Given the description of an element on the screen output the (x, y) to click on. 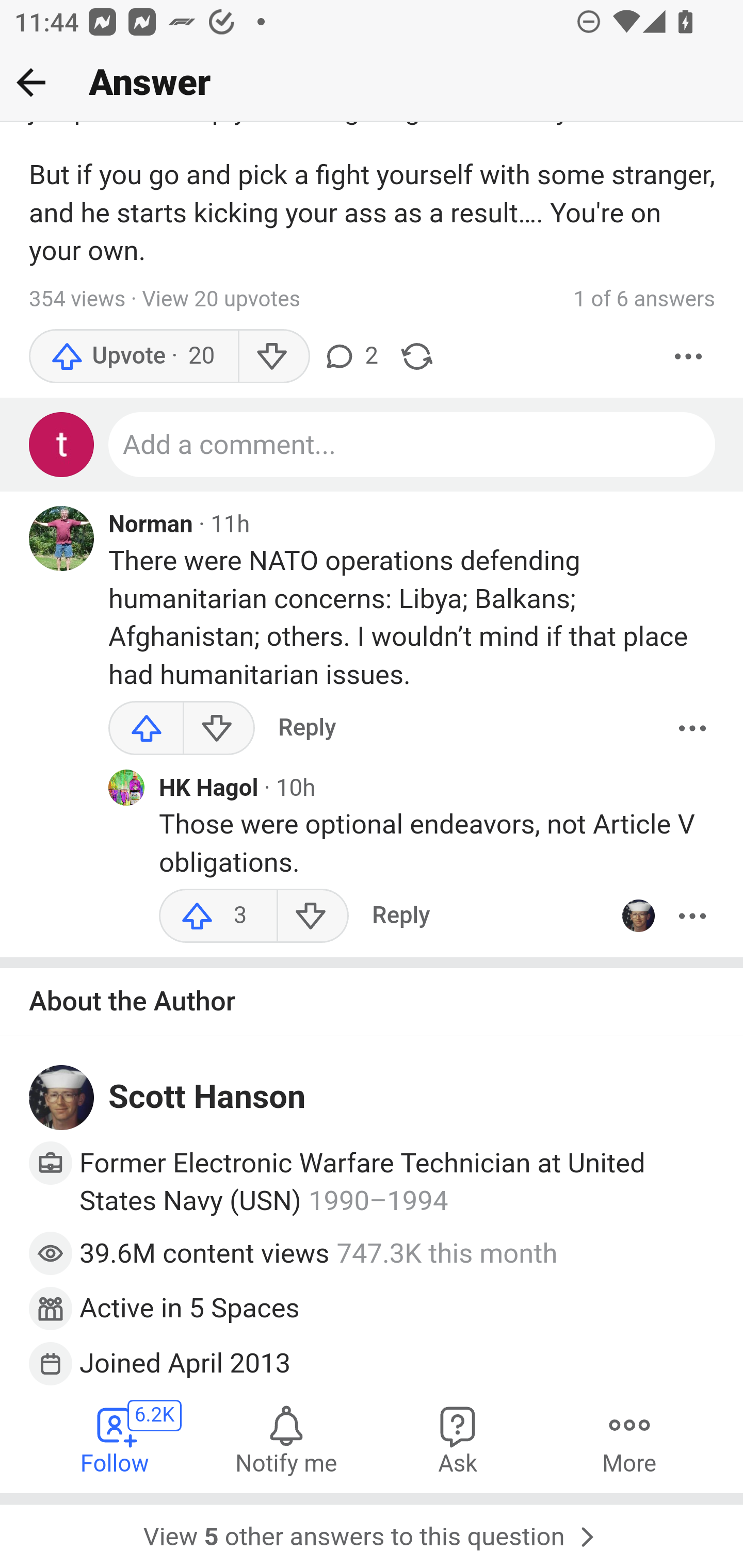
Back Answer (371, 82)
Back (30, 82)
View 20 upvotes (221, 299)
1 of 6 answers (644, 299)
Upvote (133, 356)
Downvote (273, 356)
2 comments (349, 356)
Share (416, 356)
More (688, 356)
Profile photo for Test Appium (61, 444)
Add a comment... (412, 444)
Profile photo for Norman (61, 538)
Norman (150, 525)
11h 11 h (230, 523)
Upvote (146, 728)
Downvote (218, 728)
Reply (306, 728)
More (691, 728)
Profile photo for HK Hagol (126, 787)
HK Hagol (209, 788)
10h 10 h (294, 787)
3 upvotes (218, 916)
Downvote (312, 916)
Reply (400, 916)
Profile photo for Scott Hanson (638, 916)
More (691, 916)
Profile photo for Scott Hanson (61, 1097)
Scott Hanson (207, 1096)
Follow Scott Hanson 6.2K Follow (115, 1437)
Notify me (285, 1437)
Ask (458, 1437)
More (628, 1437)
View 5 other answers to this question (371, 1529)
